Given the description of an element on the screen output the (x, y) to click on. 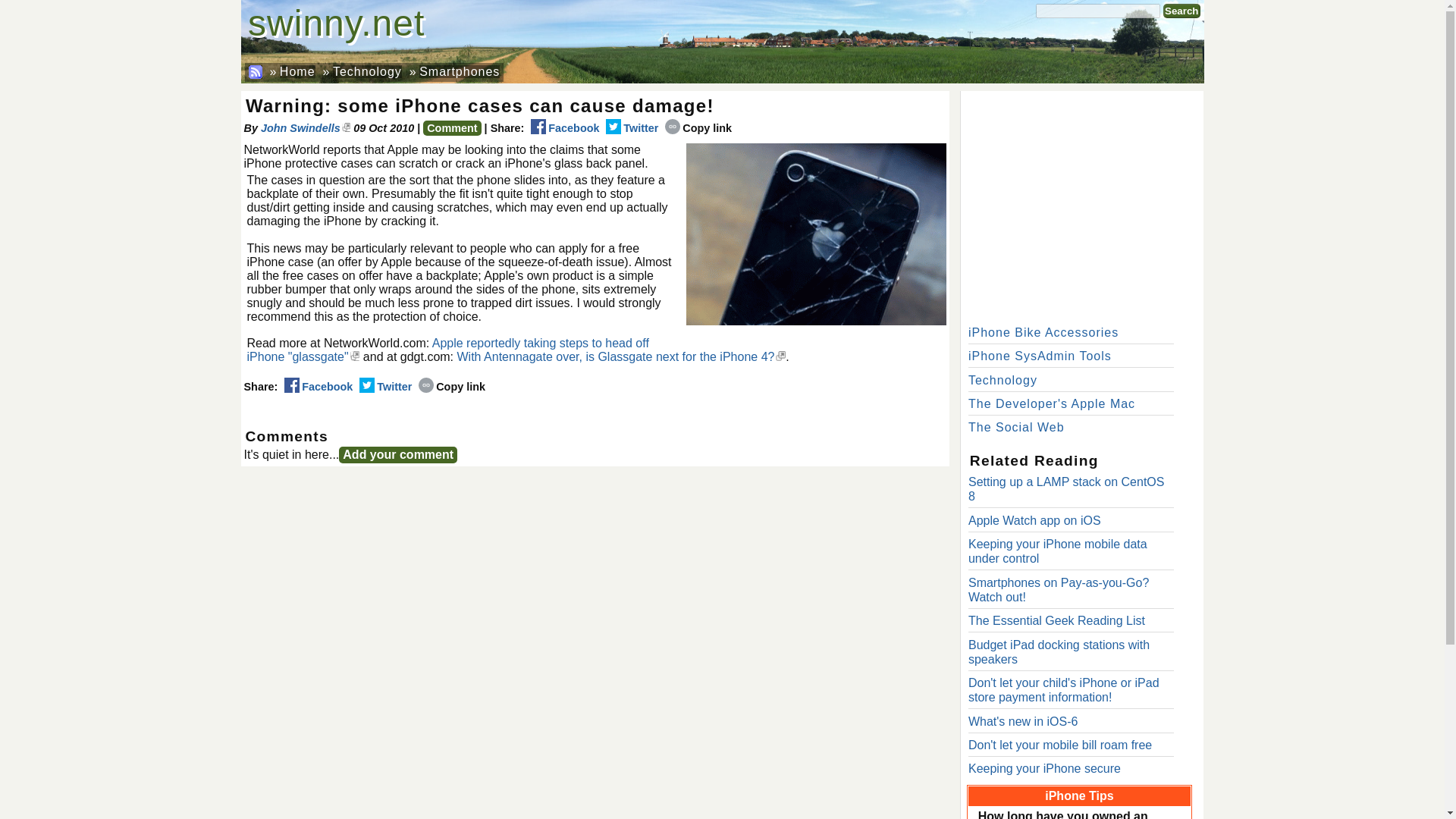
John Swindells (305, 128)
Search (1181, 11)
Comment (451, 127)
Apple reportedly taking steps to head off iPhone "glassgate" (448, 349)
Advertisement (1081, 204)
Facebook (317, 386)
Keeping your iPhone mobile data under control (1057, 551)
Copy link (451, 386)
What's new in iOS-6 (1022, 721)
Technology (1002, 379)
Budget iPad docking stations with speakers (1059, 651)
iPhone SysAdmin Tools (1040, 355)
swinny.net (336, 23)
Smartphones on Pay-as-you-Go? Watch out! (1058, 589)
